Given the description of an element on the screen output the (x, y) to click on. 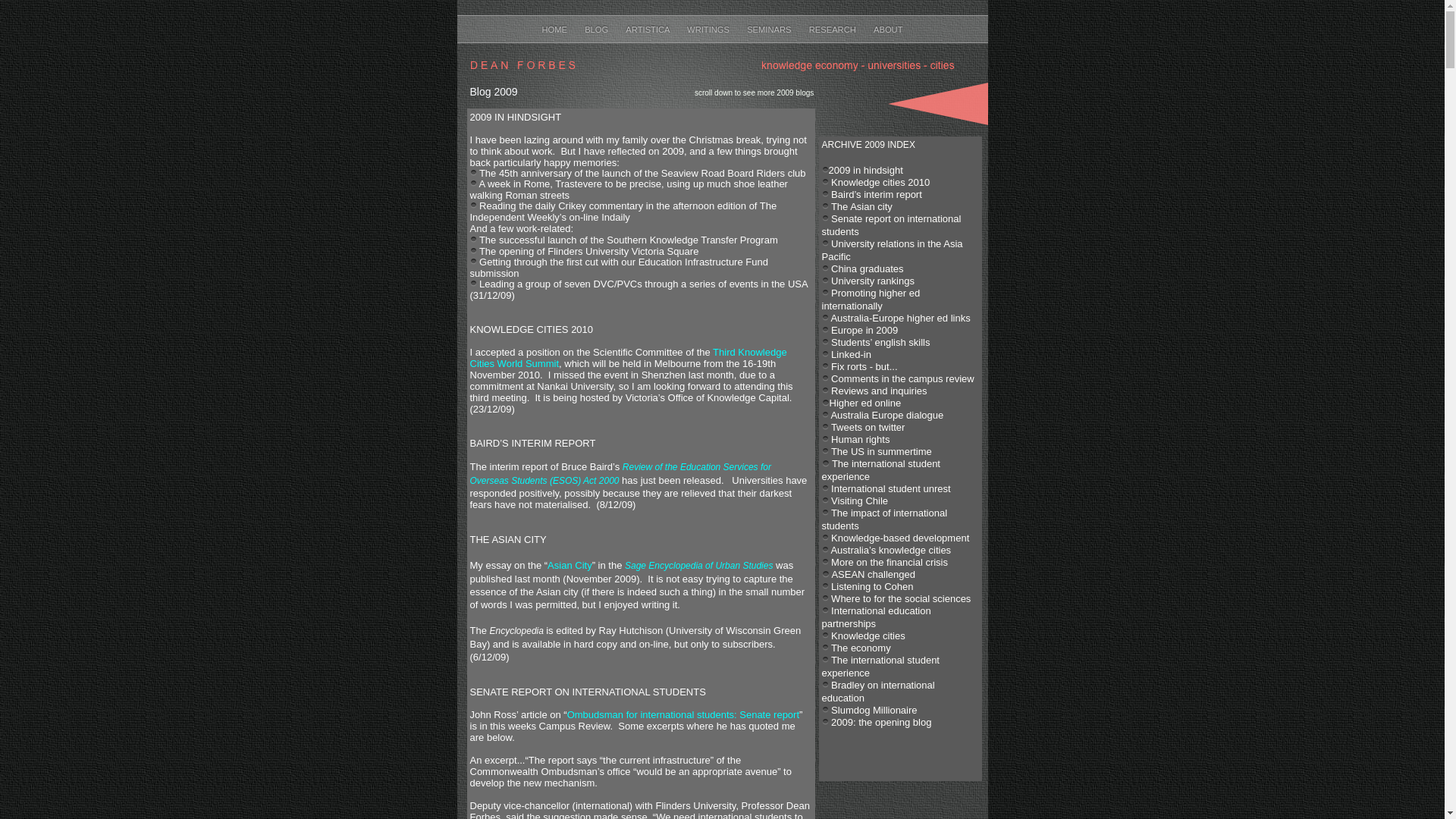
HOME Element type: text (555, 29)
BLOG Element type: text (597, 29)
SEMINARS Element type: text (769, 29)
Sage Encyclopedia of Urban Studies Element type: text (698, 565)
Third Knowledge Cities World Summit Element type: text (628, 357)
ABOUT Element type: text (888, 29)
WRITINGS Element type: text (709, 29)
ARTISTICA Element type: text (648, 29)
Asian City Element type: text (569, 565)
Ombudsman for international students: Senate report Element type: text (683, 714)
RESEARCH Element type: text (833, 29)
